Given the description of an element on the screen output the (x, y) to click on. 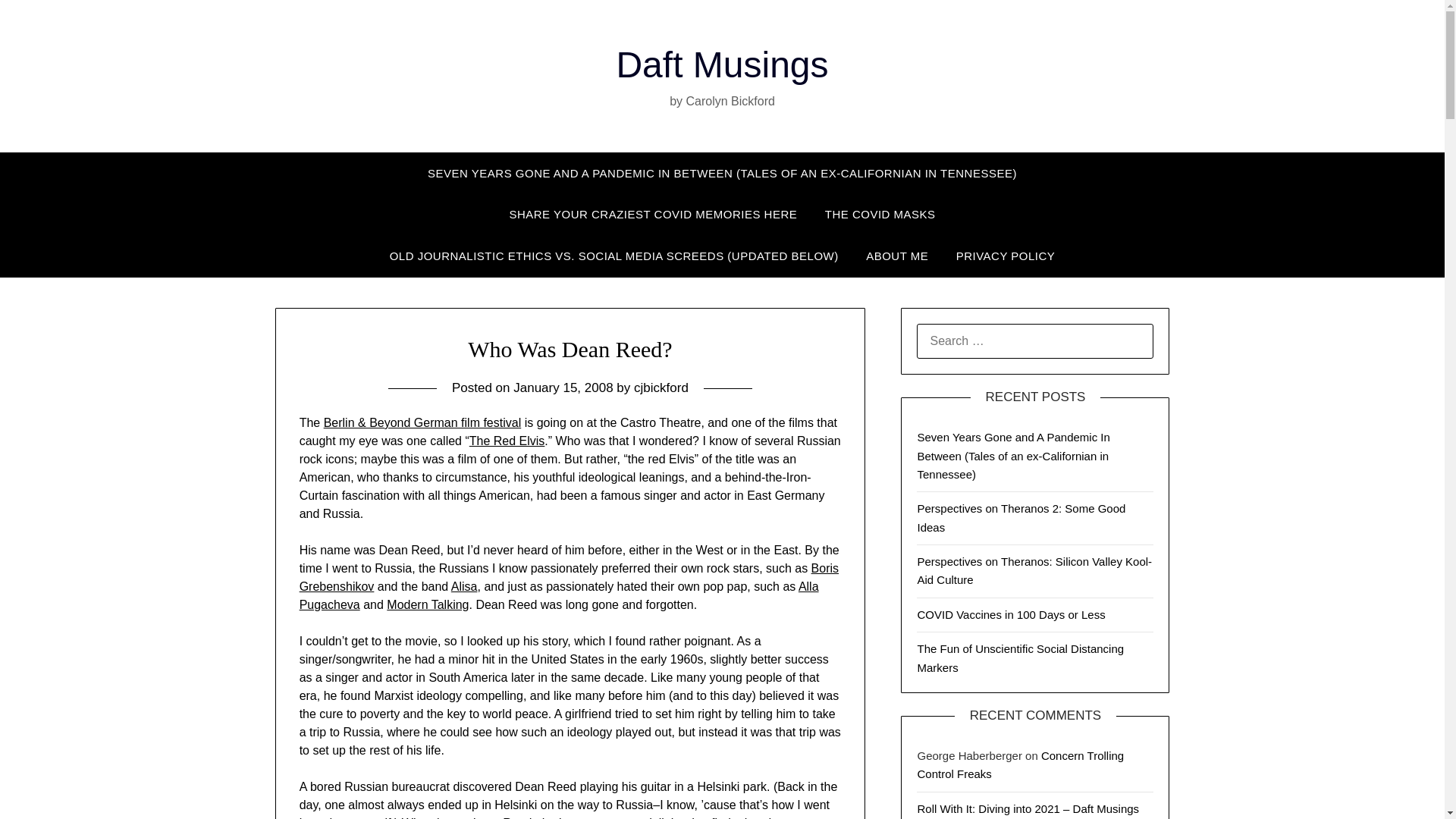
Perspectives on Theranos 2: Some Good Ideas (1021, 517)
cjbickford (660, 387)
The Fun of Unscientific Social Distancing Markers (1020, 657)
COVID Vaccines in 100 Days or Less (1011, 614)
Boris Grebenshikov (568, 576)
SHARE YOUR CRAZIEST COVID MEMORIES HERE (652, 214)
Alla Pugacheva (558, 594)
THE COVID MASKS (879, 214)
ABOUT ME (896, 255)
Daft Musings (721, 65)
PRIVACY POLICY (1005, 255)
Concern Trolling Control Freaks (1020, 764)
January 15, 2008 (562, 387)
Perspectives on Theranos: Silicon Valley Kool-Aid Culture (1034, 570)
Alisa (464, 585)
